Given the description of an element on the screen output the (x, y) to click on. 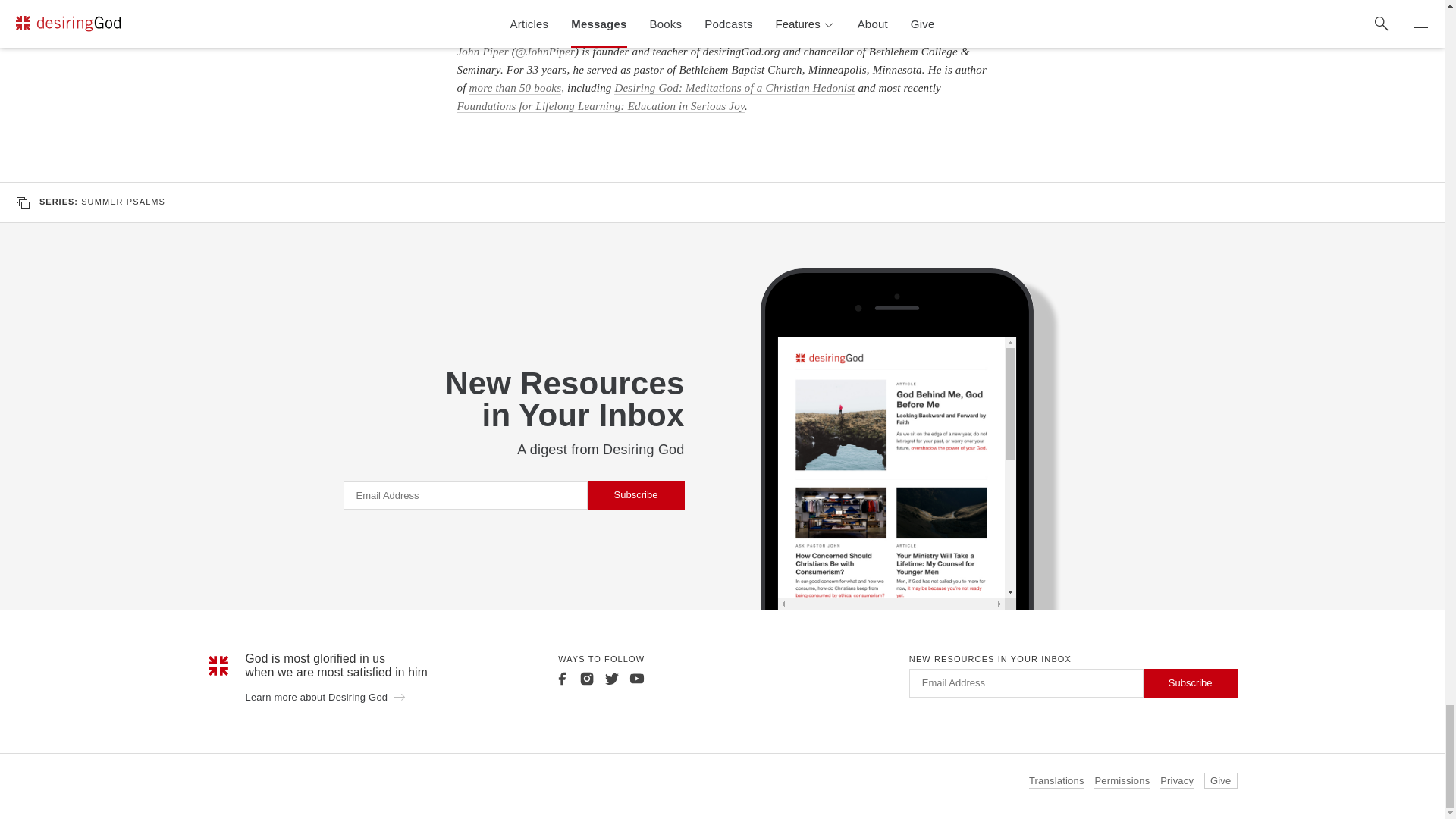
Mark - Large (218, 665)
Twitter (612, 678)
Arrow (399, 696)
